Given the description of an element on the screen output the (x, y) to click on. 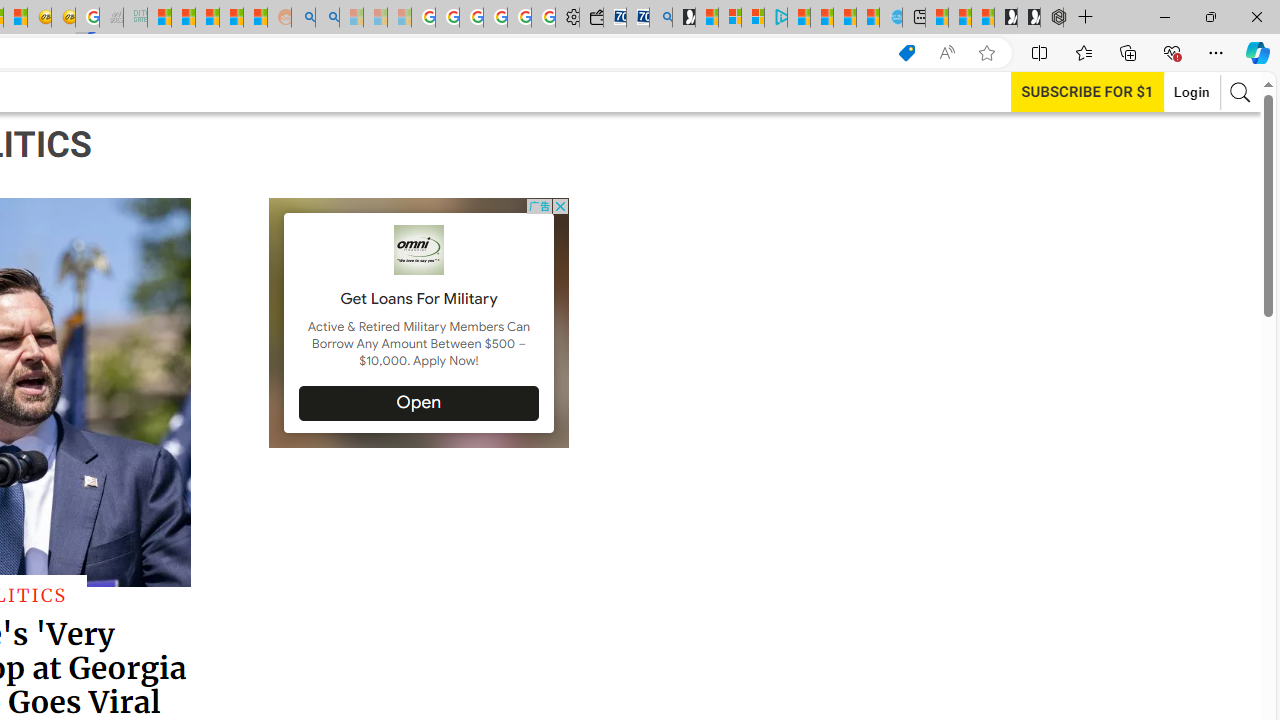
Get Loans For Military (418, 298)
Login (1192, 92)
Student Loan Update: Forgiveness Program Ends This Month (231, 17)
Class: ns-vrsze-e-5 (419, 249)
